Given the description of an element on the screen output the (x, y) to click on. 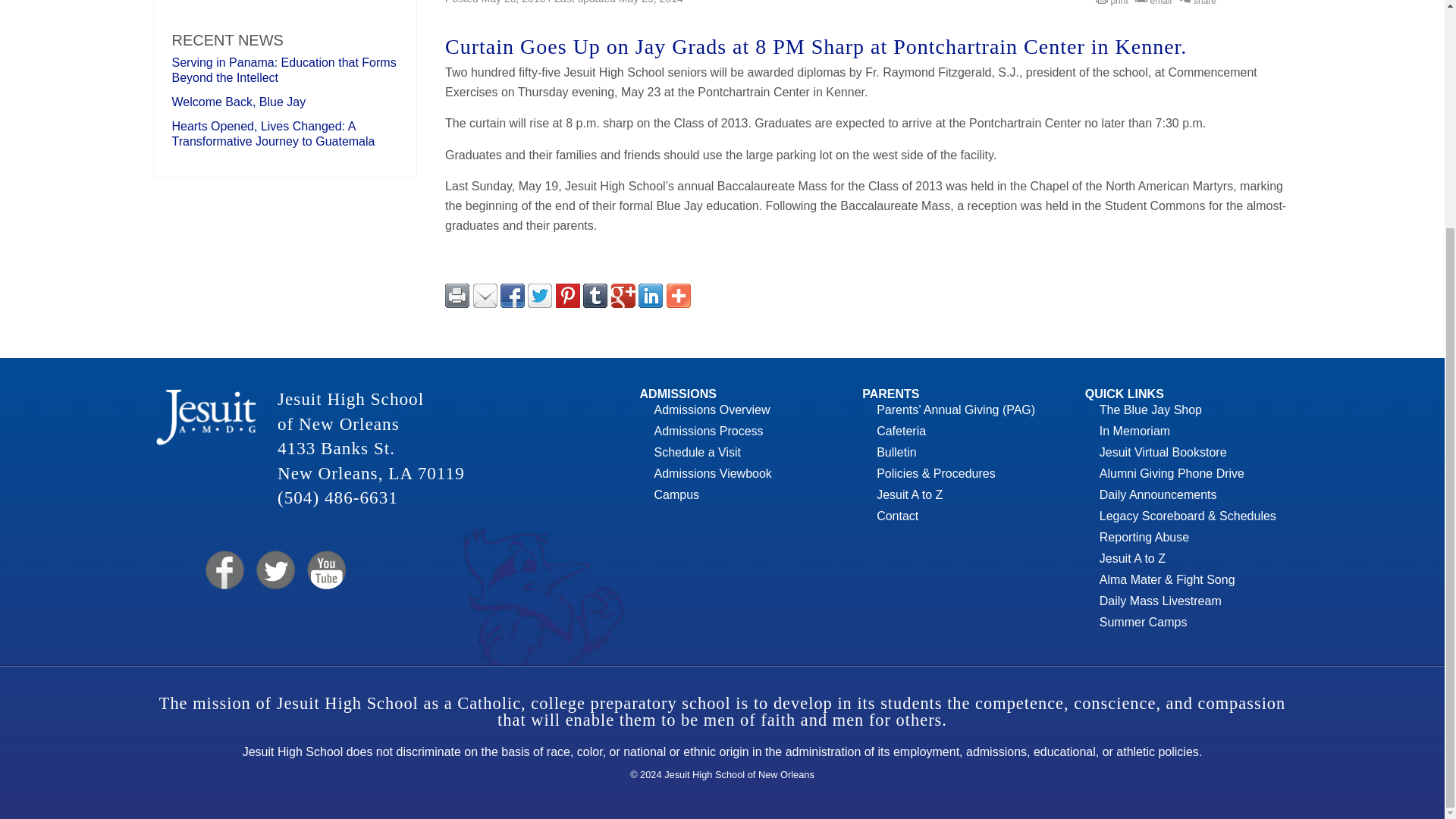
Serving in Panama: Education that Forms Beyond the Intellect (283, 70)
email (1154, 2)
print (1114, 2)
Welcome Back, Blue Jay (238, 101)
share (1199, 2)
